Given the description of an element on the screen output the (x, y) to click on. 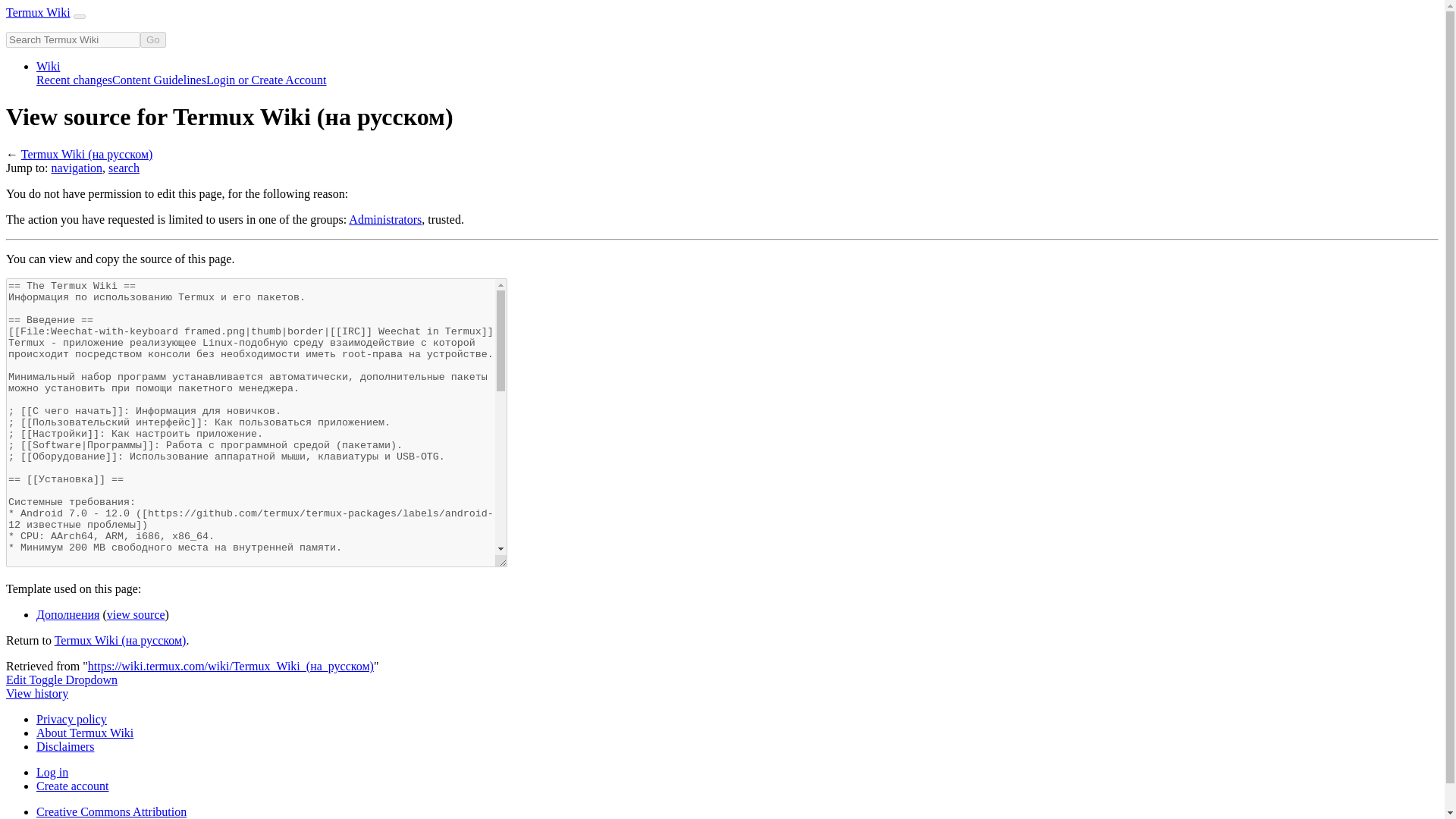
Go to a page with this exact name if it exists (152, 39)
Edit (17, 679)
Create account (72, 785)
view source (135, 614)
View history (36, 693)
Termux Wiki (37, 11)
Toggle Dropdown (73, 679)
Disclaimers (65, 746)
Go (152, 39)
Go (152, 39)
Go (152, 39)
Administrators (385, 219)
About Termux Wiki (84, 732)
Log in (52, 771)
